Given the description of an element on the screen output the (x, y) to click on. 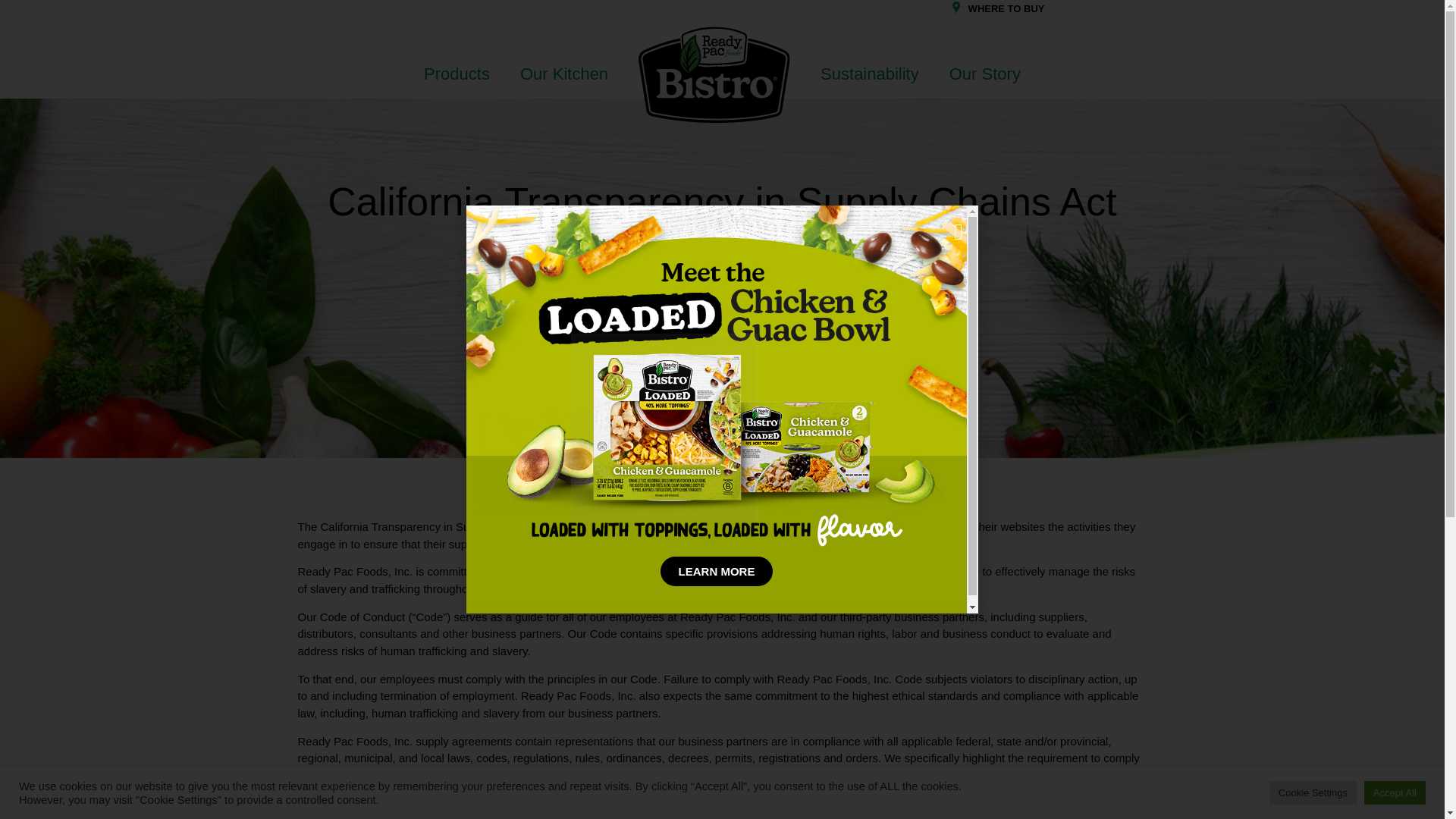
WHERE TO BUY (1006, 8)
Sustainability (869, 73)
Our Kitchen (564, 73)
